Given the description of an element on the screen output the (x, y) to click on. 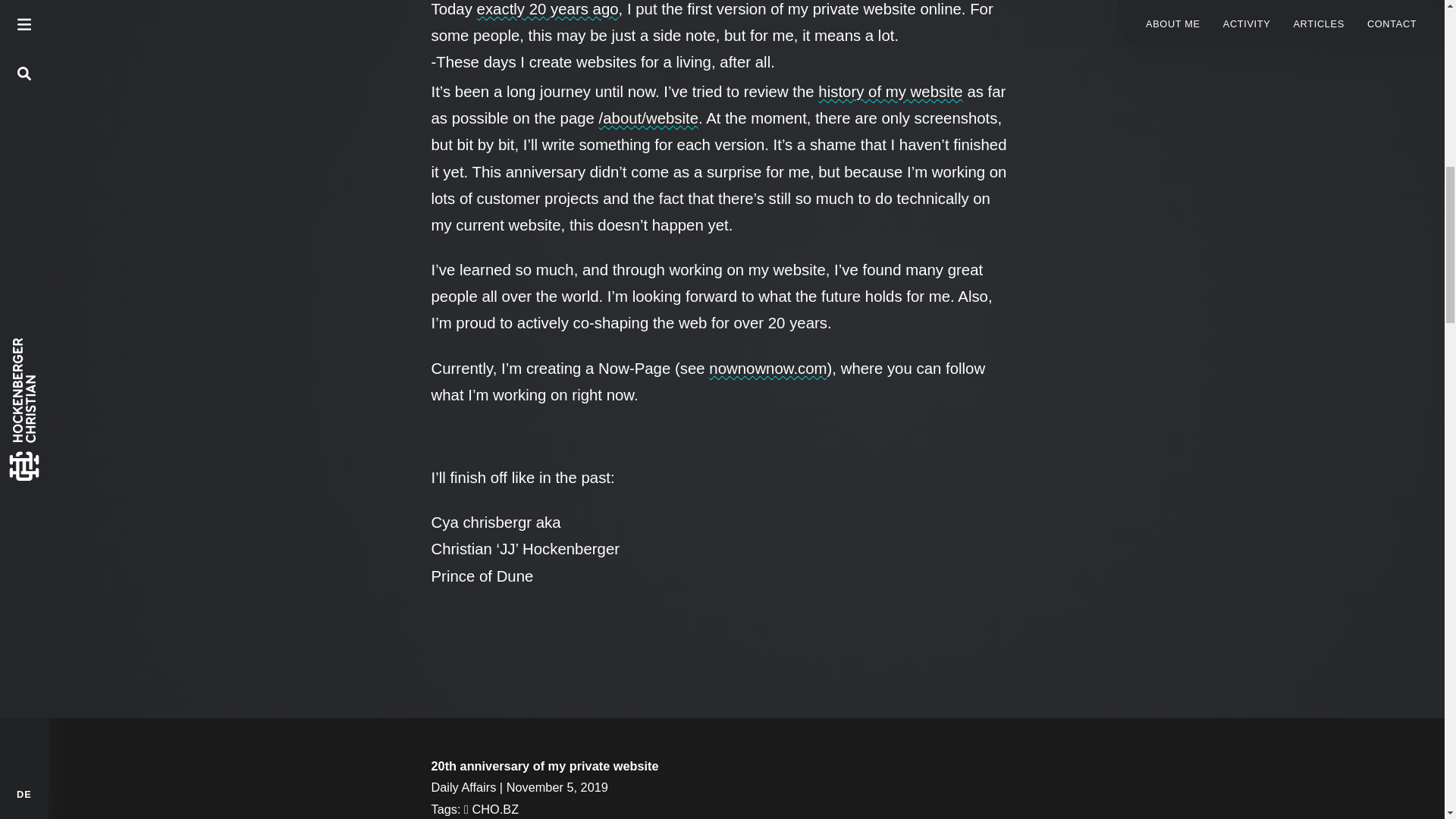
exactly 20 years ago (547, 8)
Daily Affairs (463, 786)
history of my website (890, 91)
nownownow.com (768, 368)
November 5, 2019 (557, 786)
